Given the description of an element on the screen output the (x, y) to click on. 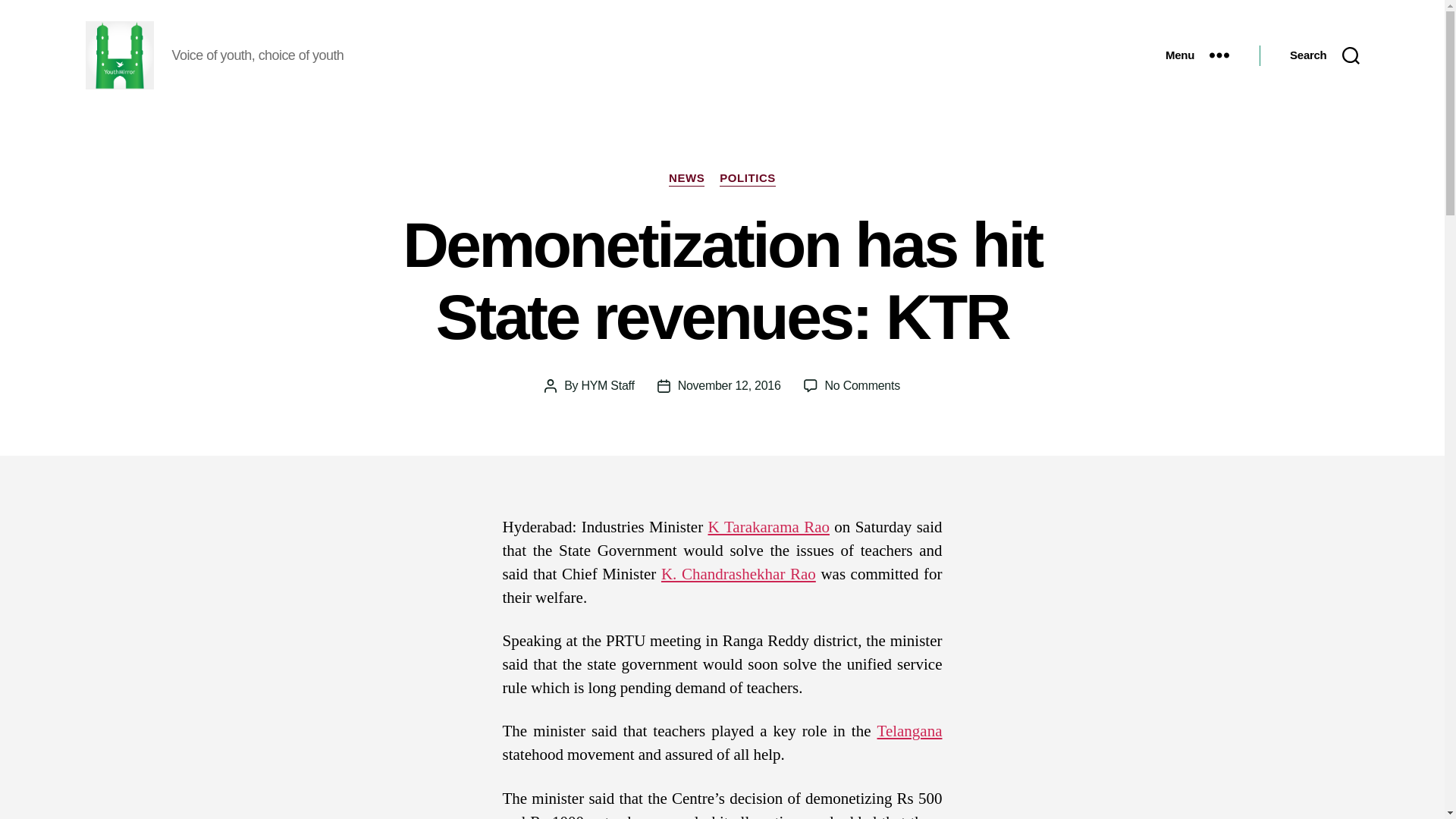
Telangana (909, 731)
Search (1324, 55)
NEWS (686, 178)
Menu (1197, 55)
HYM Staff (606, 385)
K. Chandrashekhar Rao (738, 574)
POLITICS (747, 178)
K Tarakarama Rao (767, 526)
November 12, 2016 (862, 385)
